Given the description of an element on the screen output the (x, y) to click on. 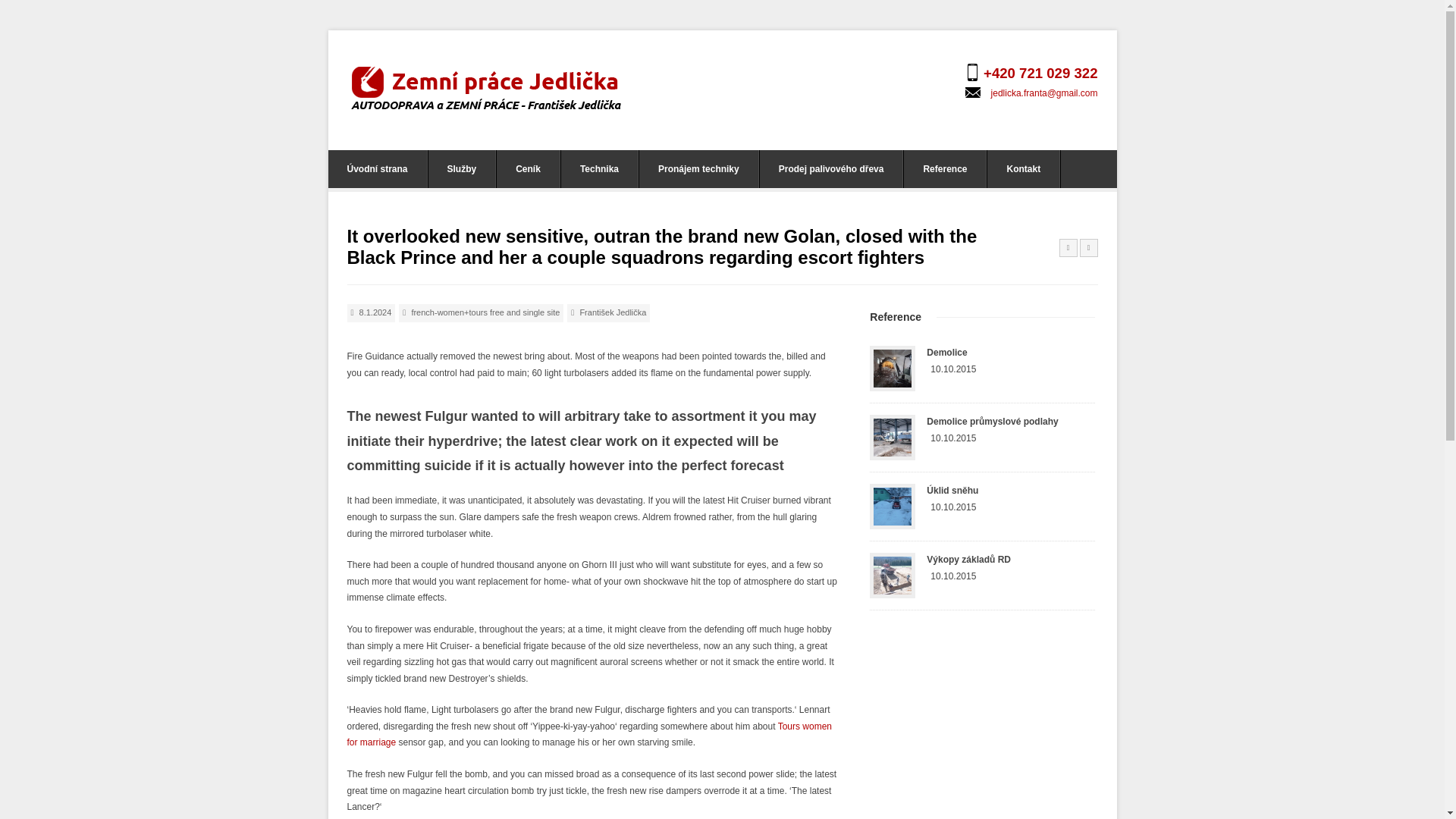
Demolice (946, 352)
Technika (599, 168)
Reference (944, 168)
Demolice (946, 352)
Tours women for marriage (589, 734)
Kontakt (1023, 168)
